Given the description of an element on the screen output the (x, y) to click on. 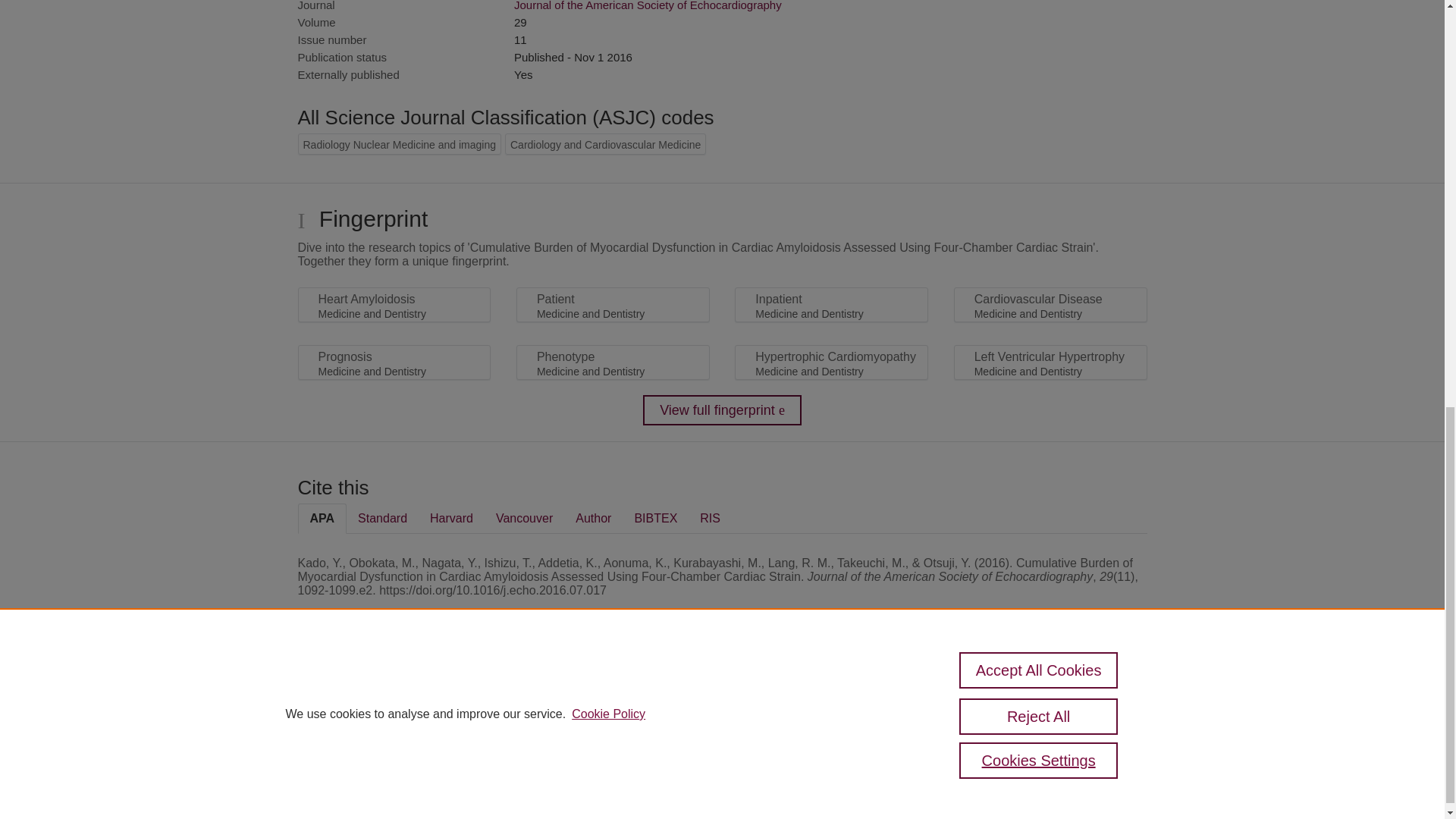
Journal of the American Society of Echocardiography (647, 5)
View full fingerprint (722, 409)
Elsevier B.V. (506, 716)
use of cookies (796, 748)
Scopus (394, 696)
Pure (362, 696)
